Given the description of an element on the screen output the (x, y) to click on. 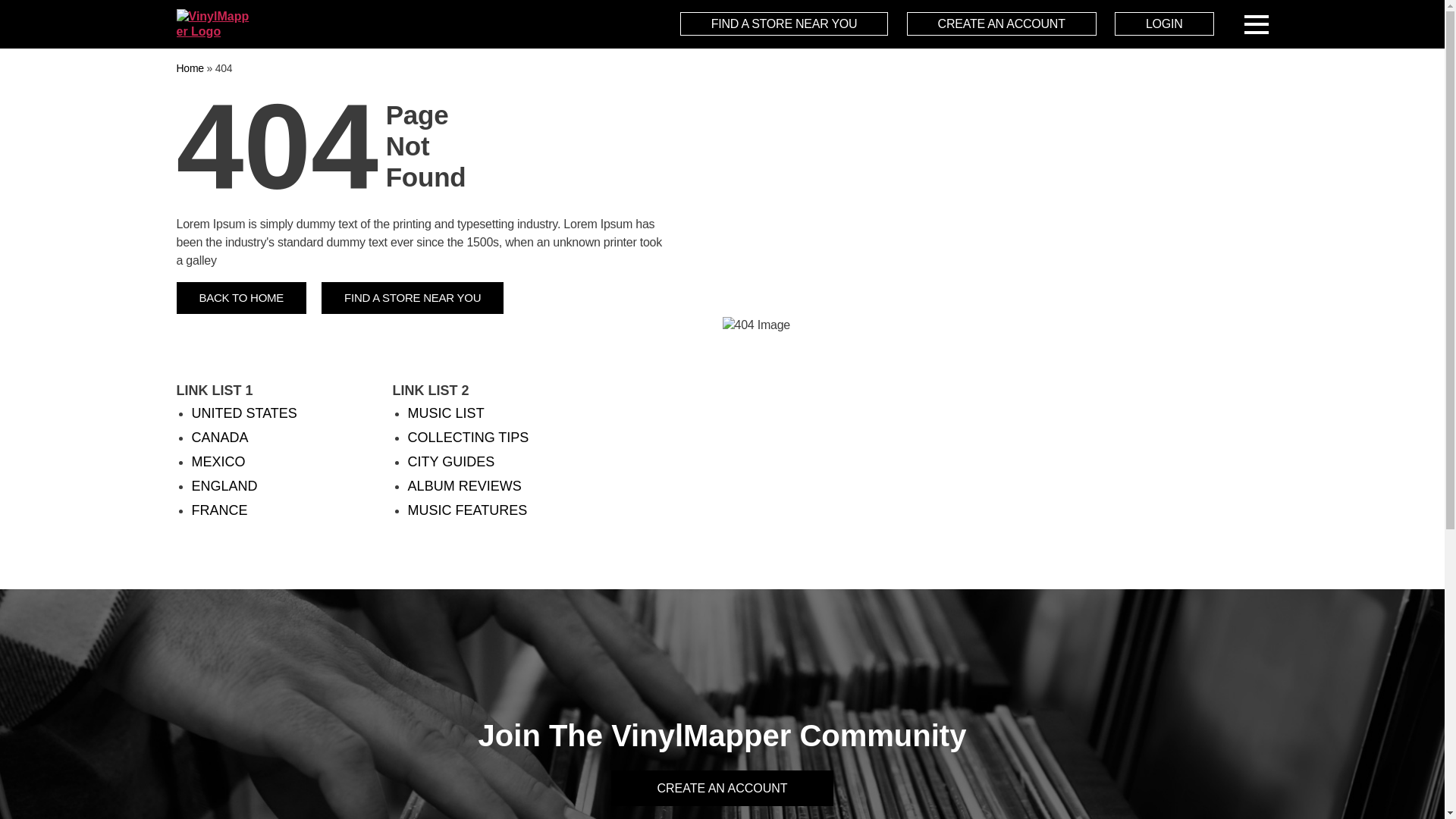
FIND A STORE NEAR YOU (783, 24)
CREATE AN ACCOUNT (1001, 24)
UNITED STATES (243, 412)
BACK TO HOME (240, 297)
CANADA (218, 436)
FIND A STORE NEAR YOU (412, 297)
Home (189, 68)
LOGIN (1164, 24)
MEXICO (217, 460)
